Given the description of an element on the screen output the (x, y) to click on. 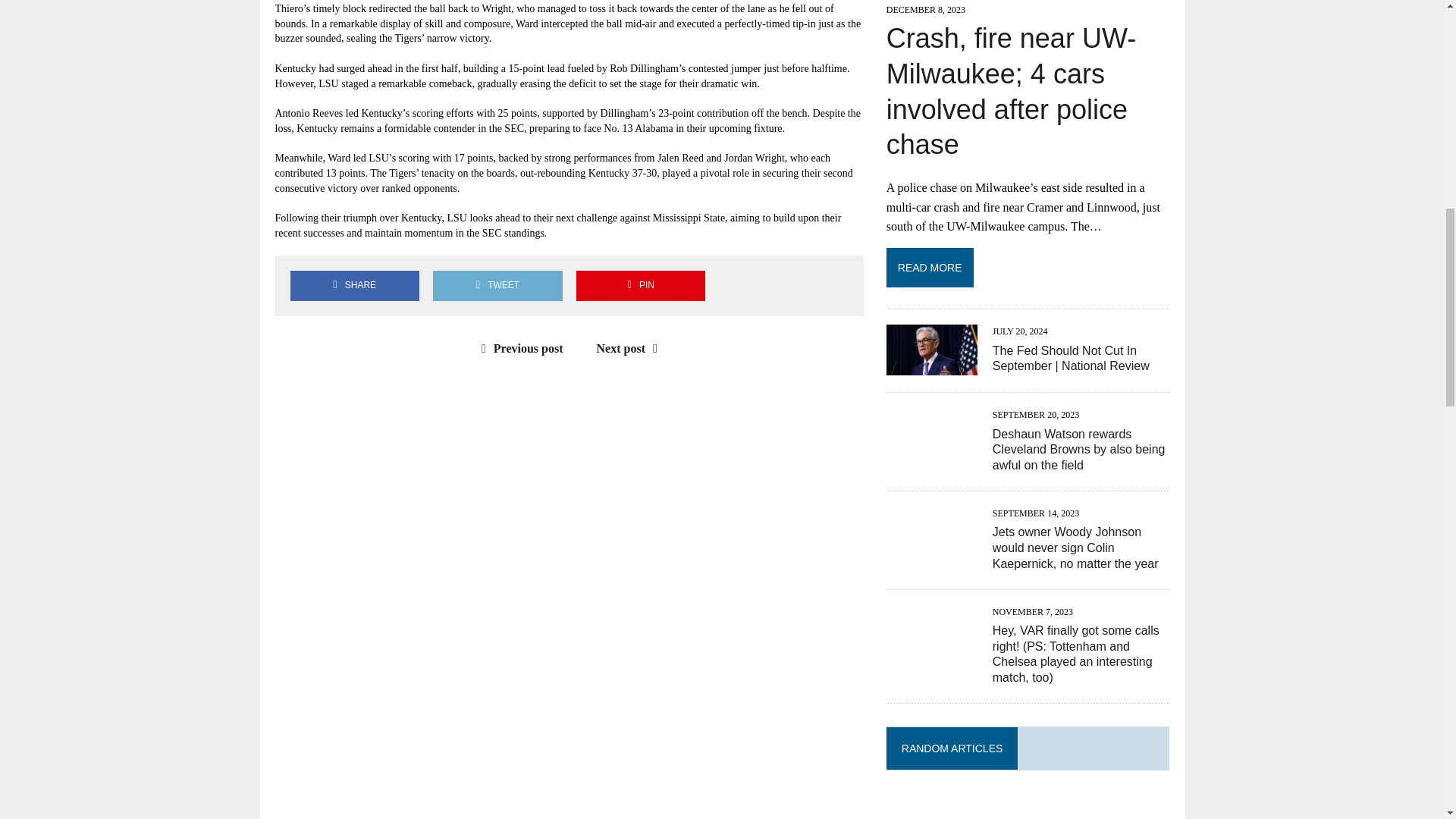
Pin This Post (640, 285)
Previous post (518, 348)
PIN (640, 285)
SHARE (354, 285)
Tweet This Post (497, 285)
Share on Facebook (354, 285)
Next post (630, 348)
TWEET (497, 285)
